Given the description of an element on the screen output the (x, y) to click on. 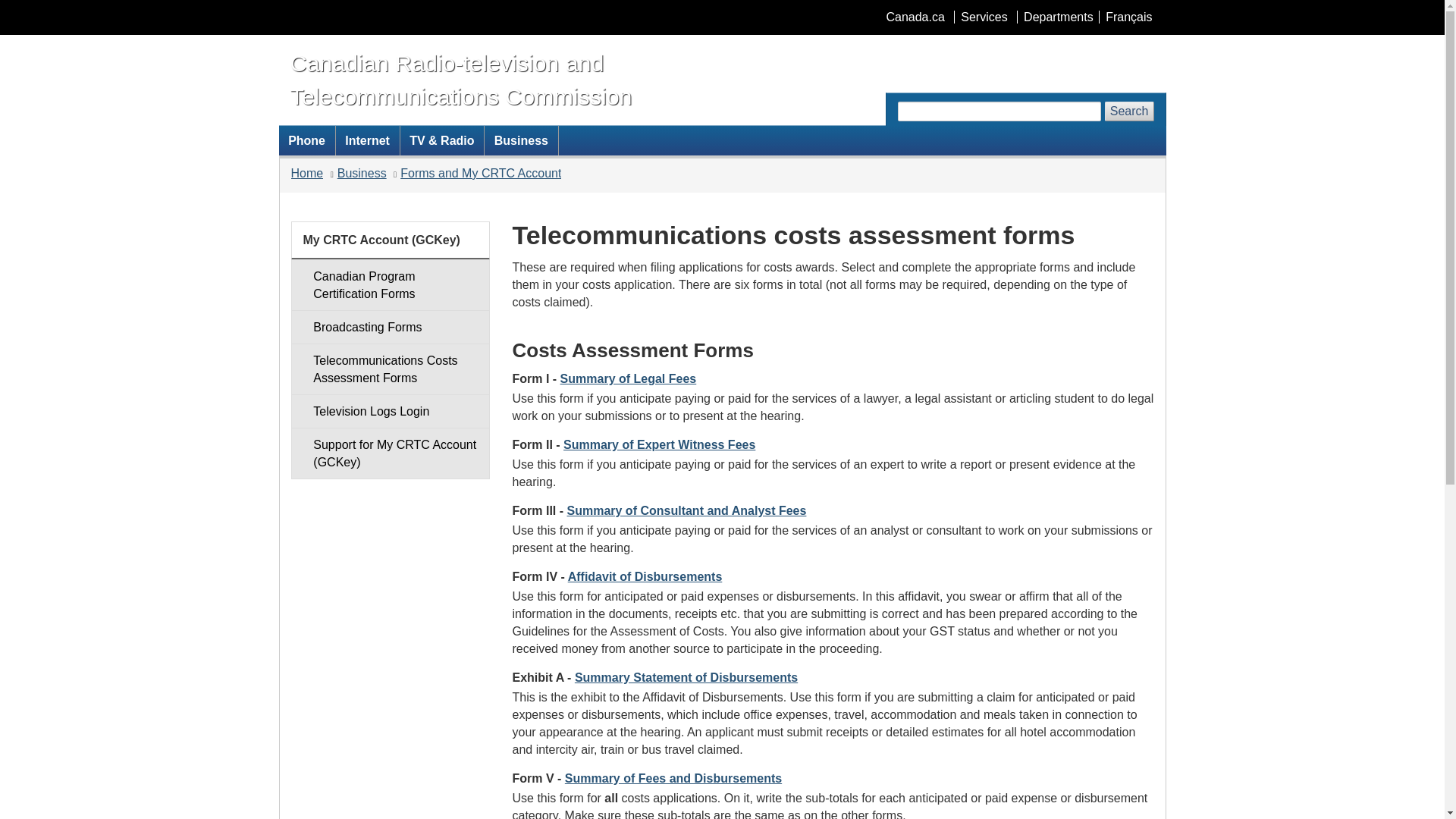
Forms and My CRTC Account (480, 173)
Summary of Legal Fees (628, 378)
Departments (1057, 16)
Business (520, 140)
Canada.ca (914, 16)
Television Logs Login (390, 410)
Phone (306, 140)
Services (983, 16)
Affidavit of Disbursements (644, 576)
Canadian Radio-television and Telecommunications Commission (463, 79)
